Given the description of an element on the screen output the (x, y) to click on. 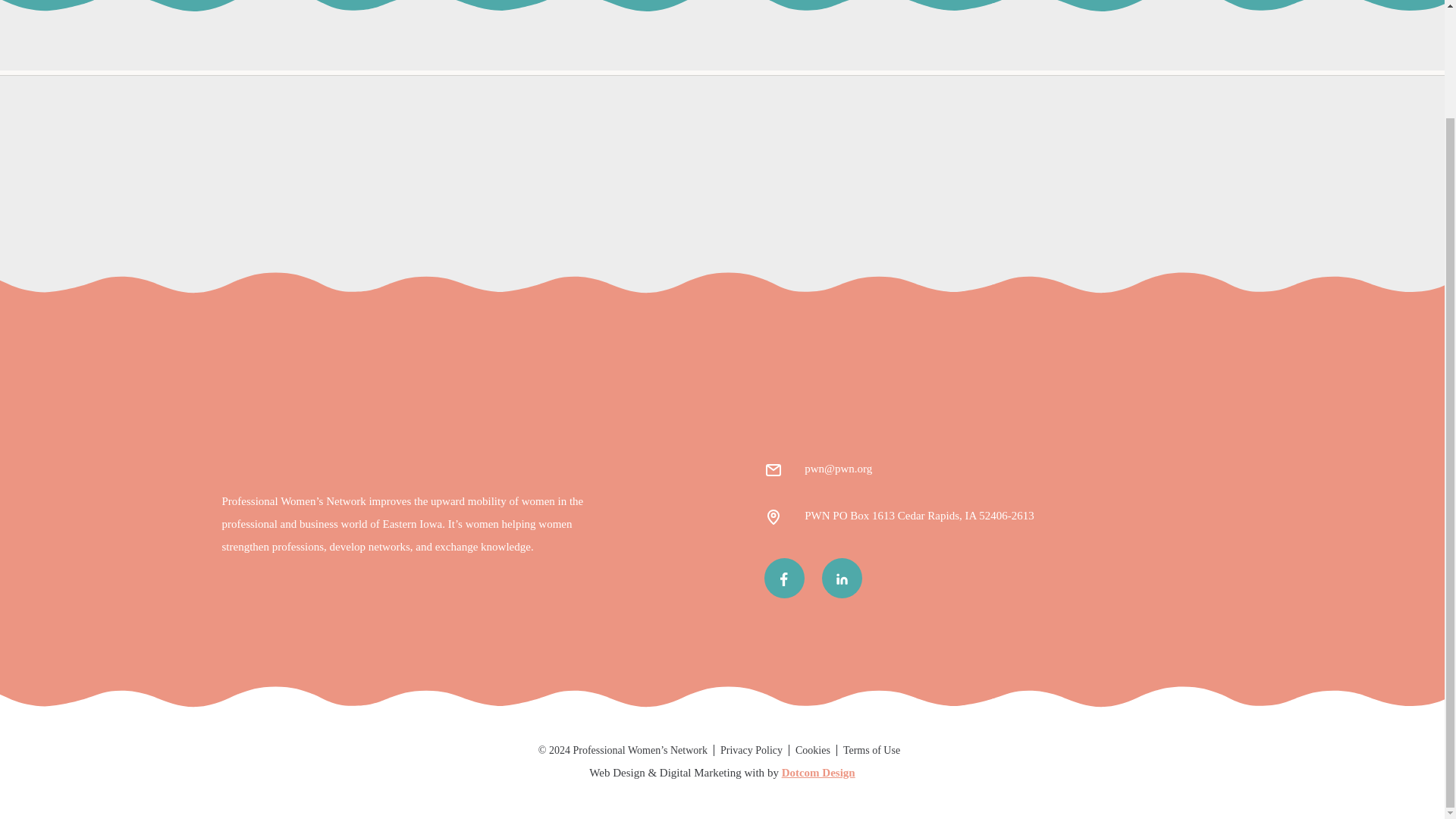
PWN PO Box 1613 Cedar Rapids, IA 52406-2613 (919, 515)
Privacy Policy (751, 749)
Dotcom Design (818, 772)
Cookies (811, 749)
Terms of Use (871, 749)
